Given the description of an element on the screen output the (x, y) to click on. 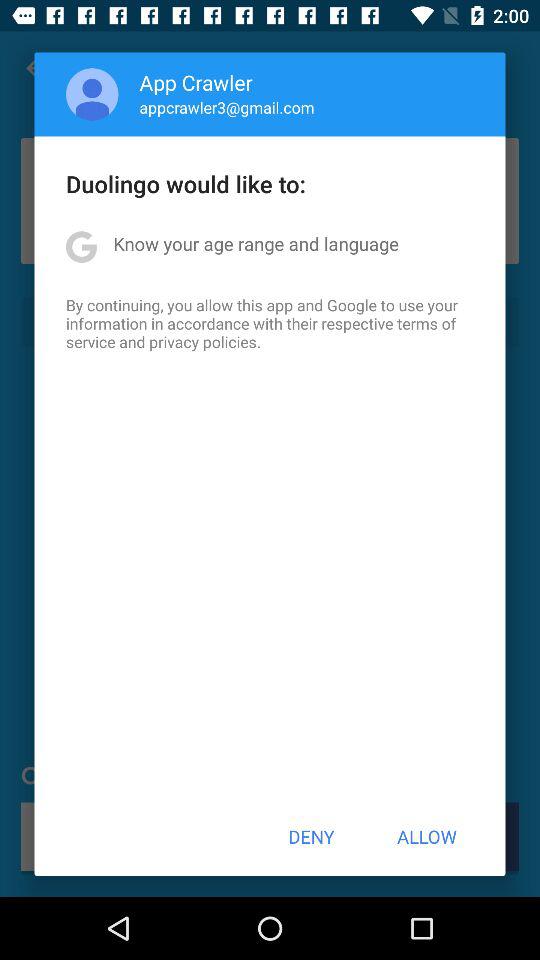
select item next to allow (311, 836)
